Given the description of an element on the screen output the (x, y) to click on. 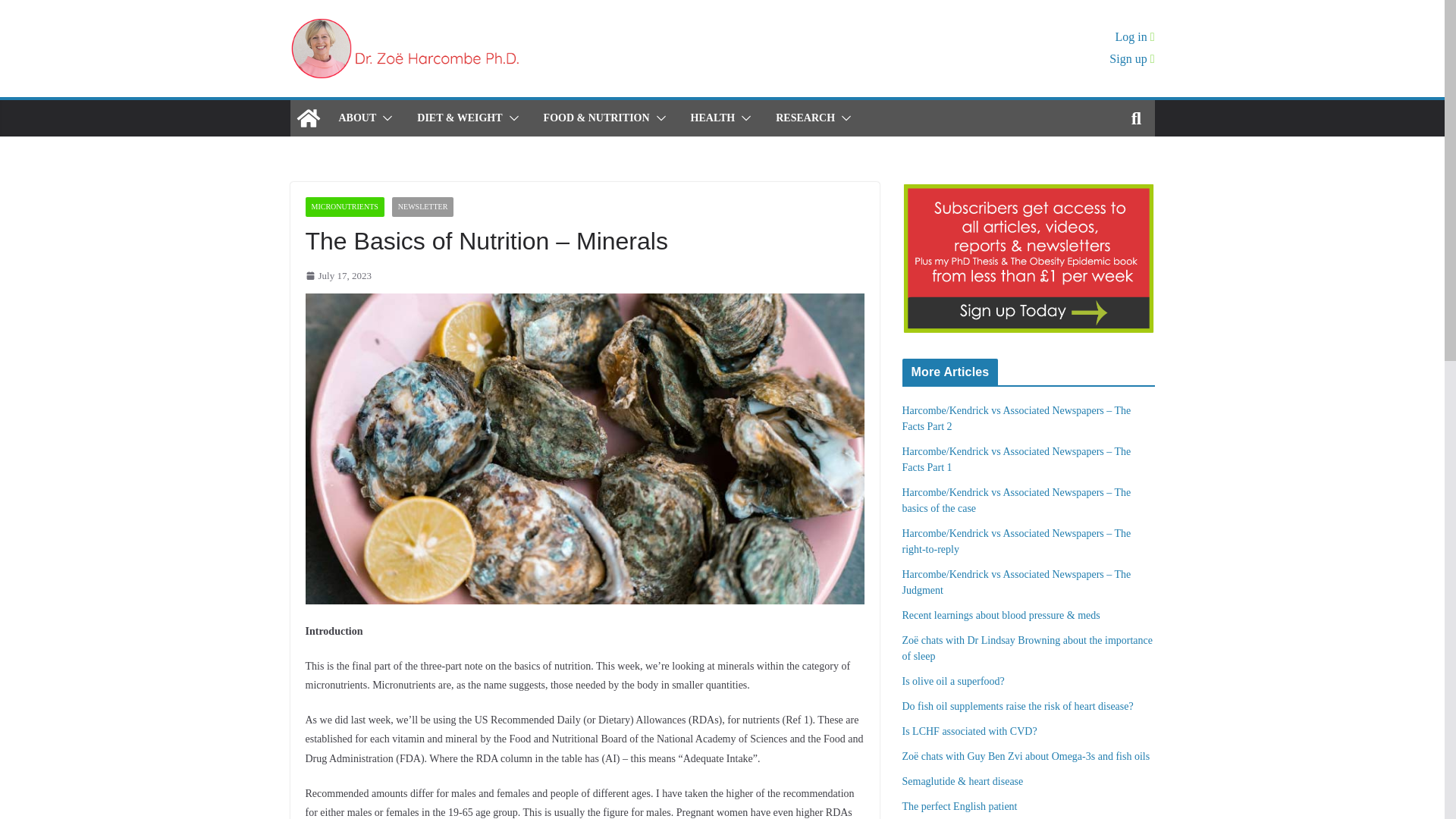
HEALTH (712, 117)
ABOUT (356, 117)
Sign up (1131, 58)
Log in (1134, 36)
11:30 am (337, 275)
